Given the description of an element on the screen output the (x, y) to click on. 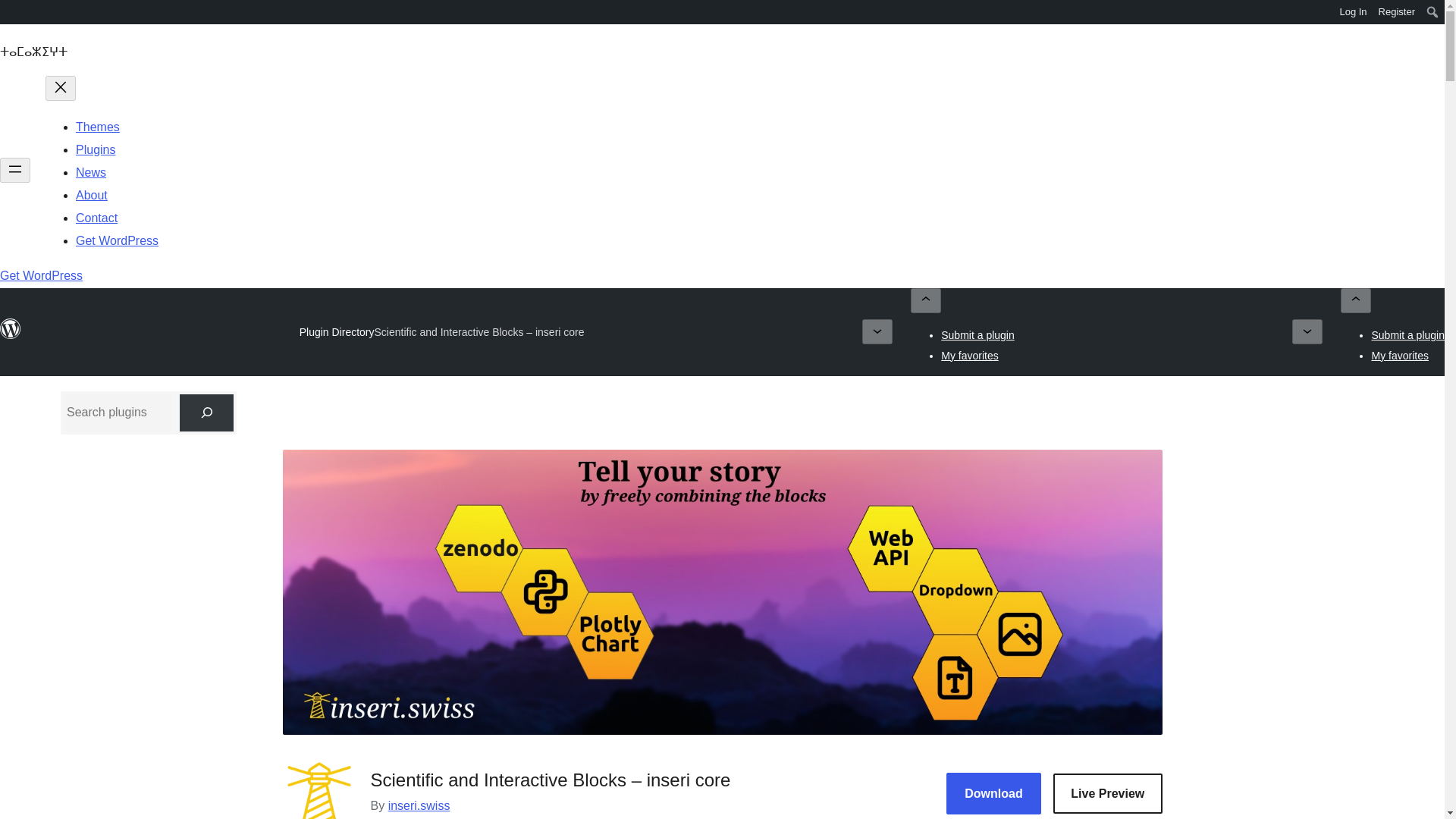
Plugin Directory (336, 331)
About (91, 195)
inseri.swiss (418, 805)
My favorites (1399, 354)
WordPress.org (10, 16)
Themes (97, 126)
Get WordPress (116, 240)
Register (1397, 12)
WordPress.org (10, 328)
My favorites (968, 354)
